Given the description of an element on the screen output the (x, y) to click on. 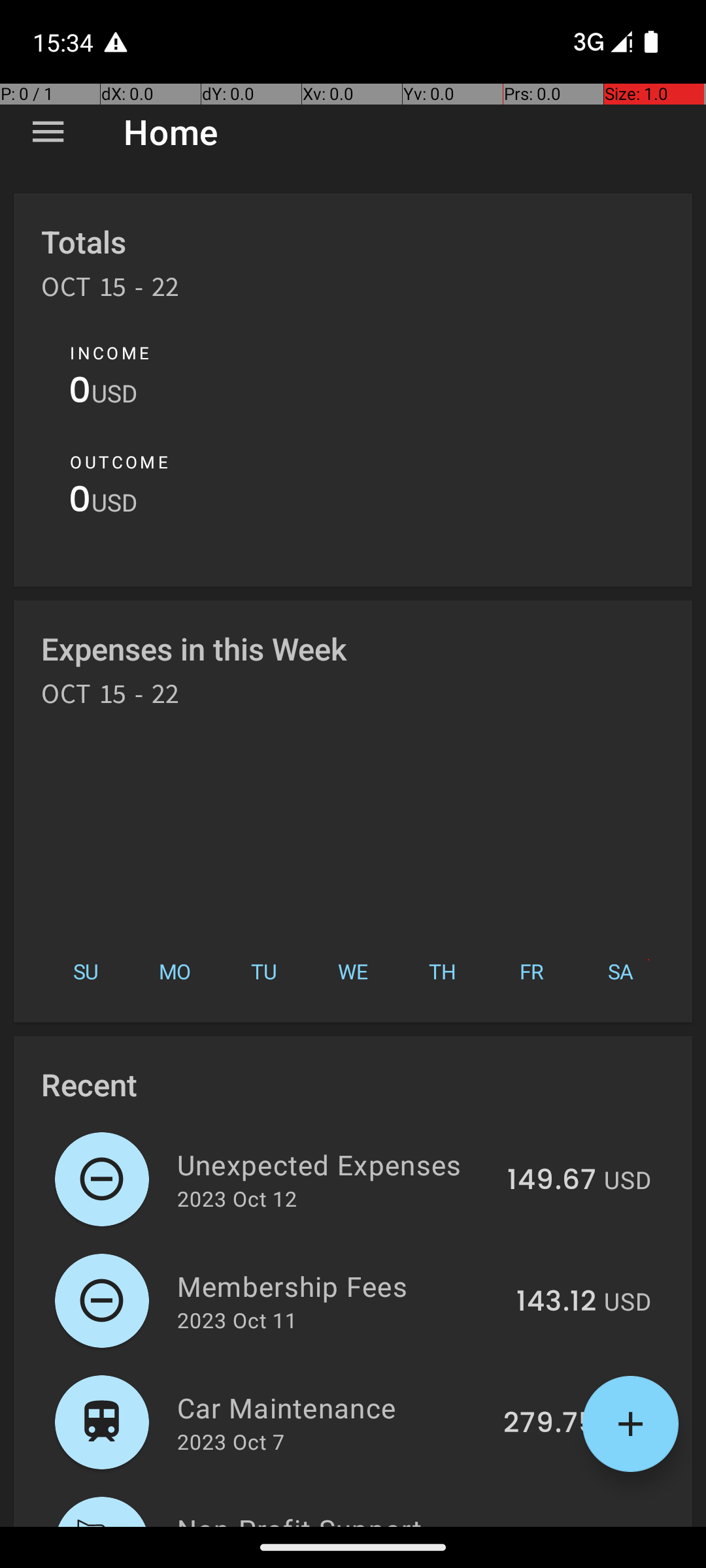
Unexpected Expenses Element type: android.widget.TextView (334, 1164)
149.67 Element type: android.widget.TextView (551, 1180)
Membership Fees Element type: android.widget.TextView (339, 1285)
143.12 Element type: android.widget.TextView (555, 1301)
Car Maintenance Element type: android.widget.TextView (332, 1407)
2023 Oct 7 Element type: android.widget.TextView (230, 1441)
279.75 Element type: android.widget.TextView (549, 1423)
Non-Profit Support Element type: android.widget.TextView (331, 1518)
335.78 Element type: android.widget.TextView (548, 1524)
